Given the description of an element on the screen output the (x, y) to click on. 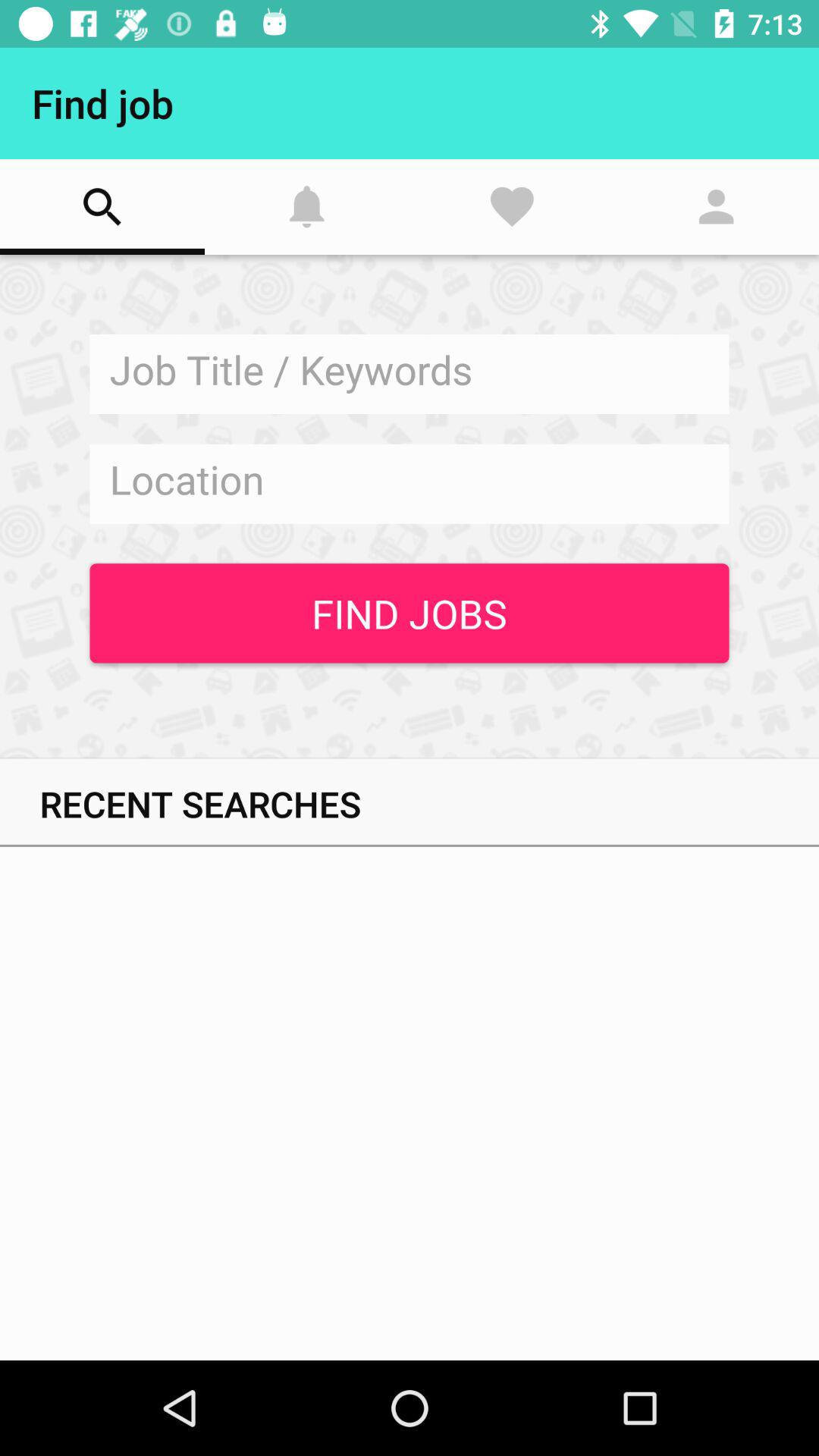
enter location (409, 483)
